Given the description of an element on the screen output the (x, y) to click on. 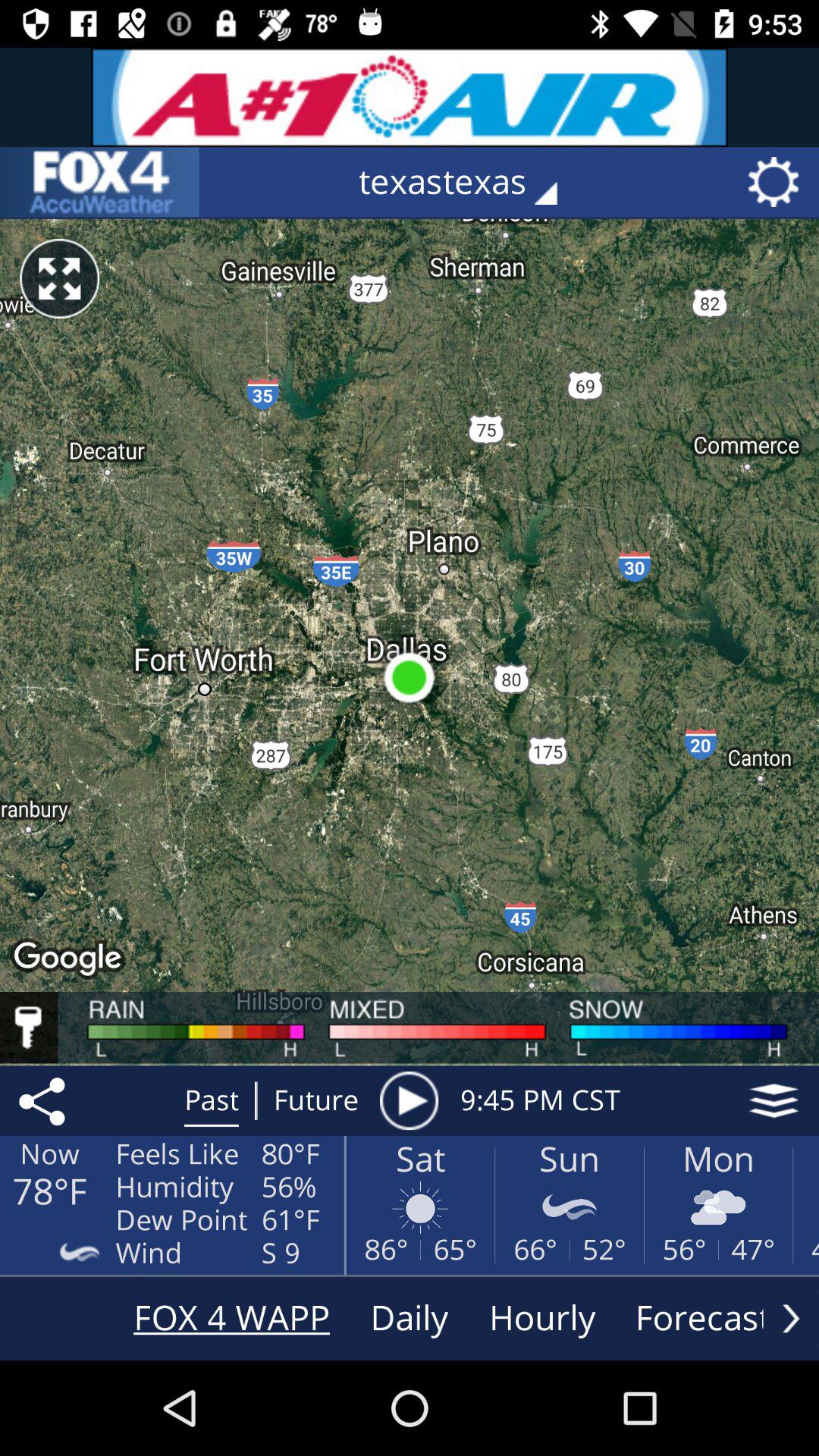
news channel (99, 182)
